Given the description of an element on the screen output the (x, y) to click on. 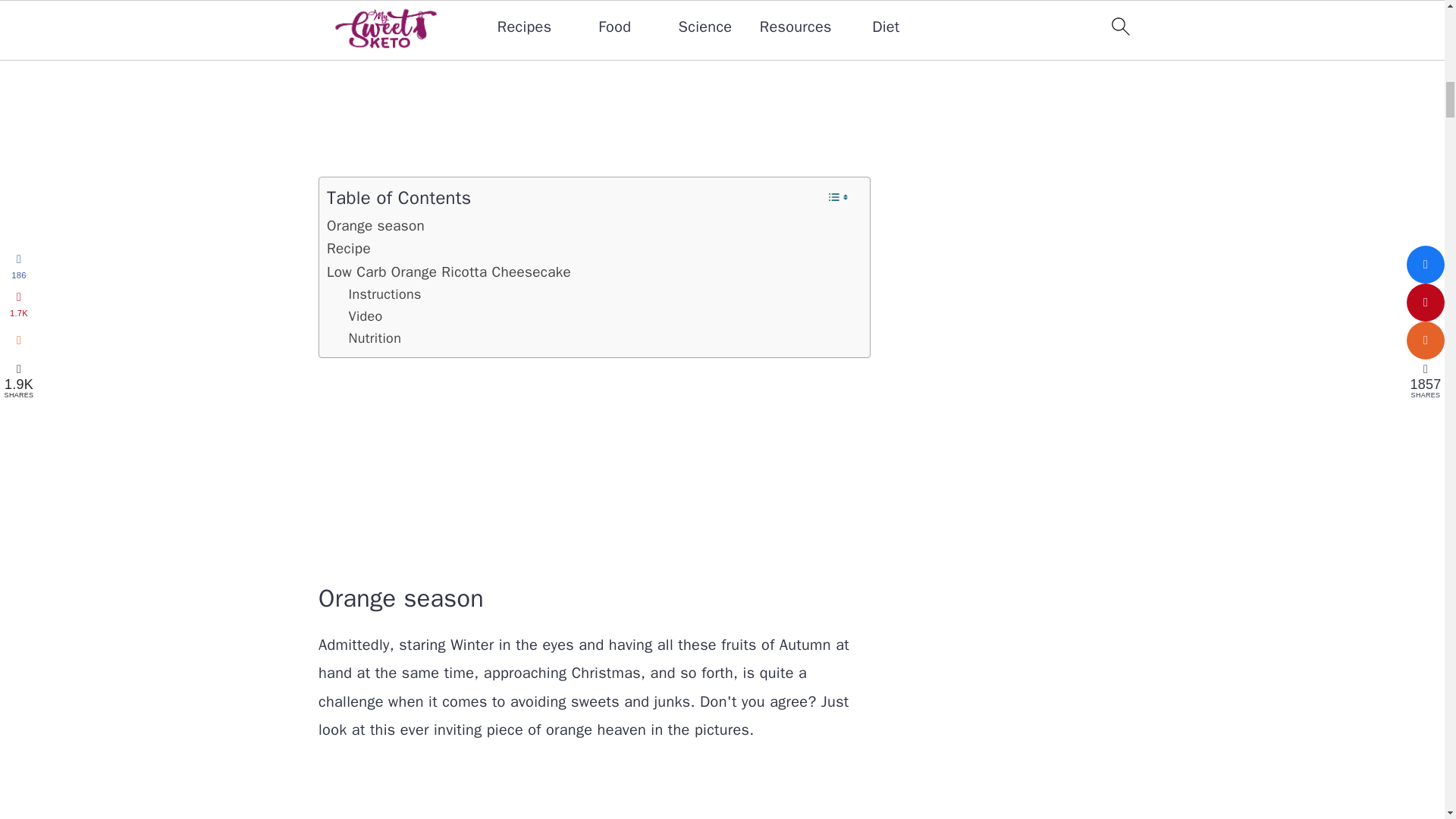
Low Carb Orange Ricotta Cheesecake (448, 272)
Recipe (348, 248)
Recipe (348, 248)
Nutrition (375, 338)
Low Carb Orange Ricotta Cheesecake (448, 272)
Orange season (375, 225)
Nutrition (375, 338)
Video (365, 316)
Orange season (375, 225)
Instructions  (387, 294)
Video (365, 316)
